Given the description of an element on the screen output the (x, y) to click on. 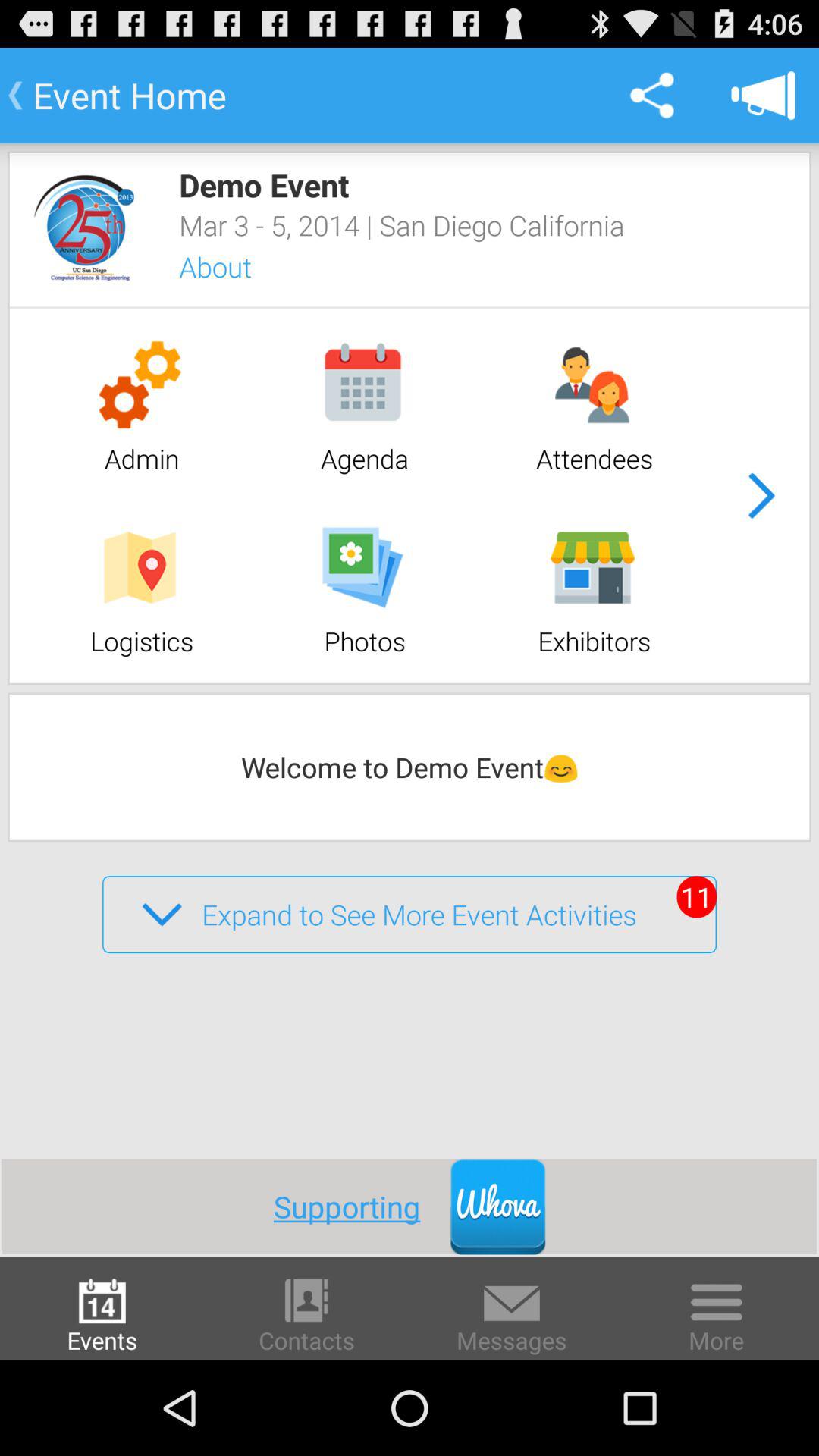
turn on the about app (235, 267)
